Given the description of an element on the screen output the (x, y) to click on. 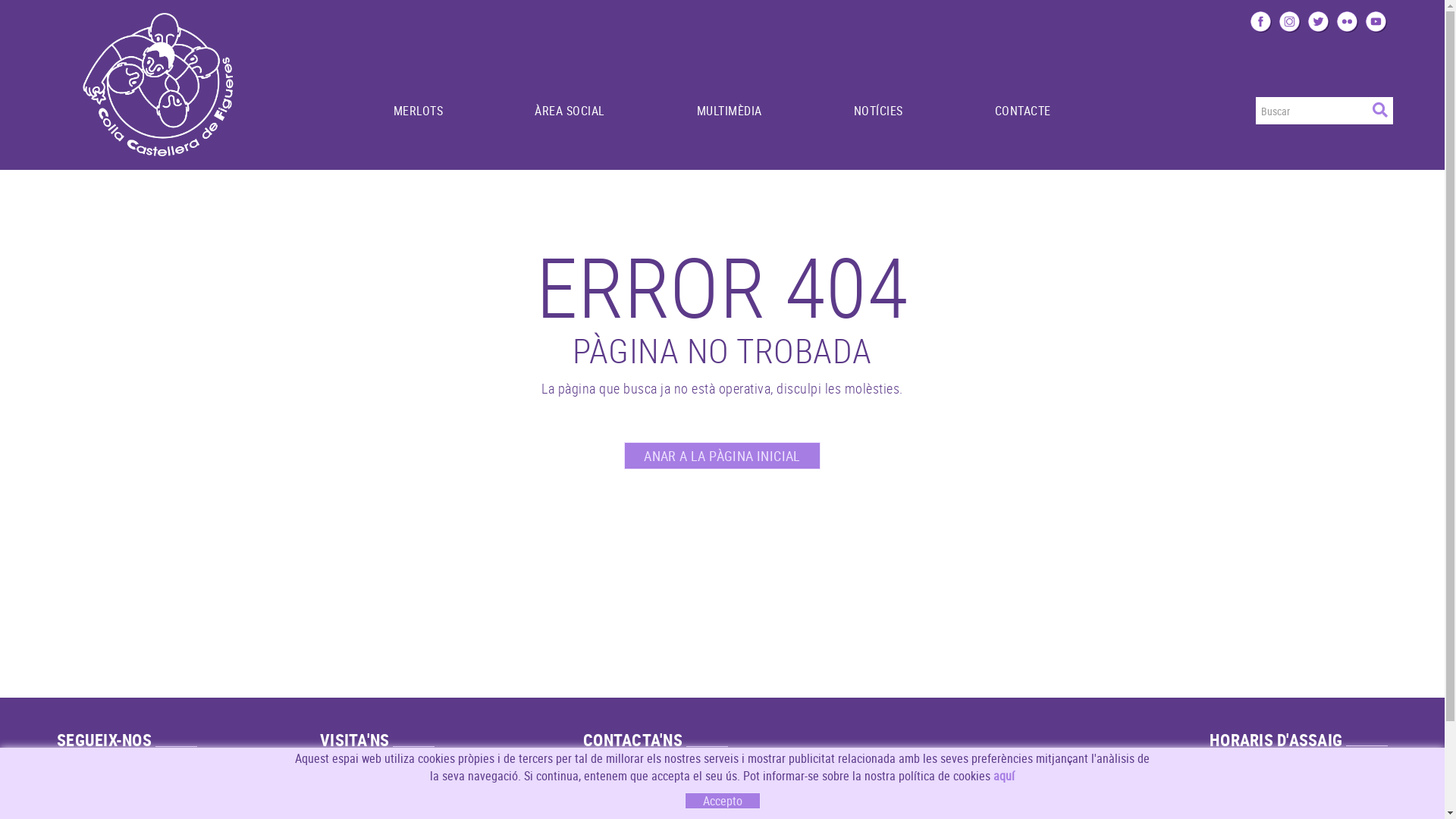
MERLOTS Element type: text (417, 91)
CONTACTE Element type: text (1022, 91)
info@figueres.cc Element type: text (630, 786)
